Given the description of an element on the screen output the (x, y) to click on. 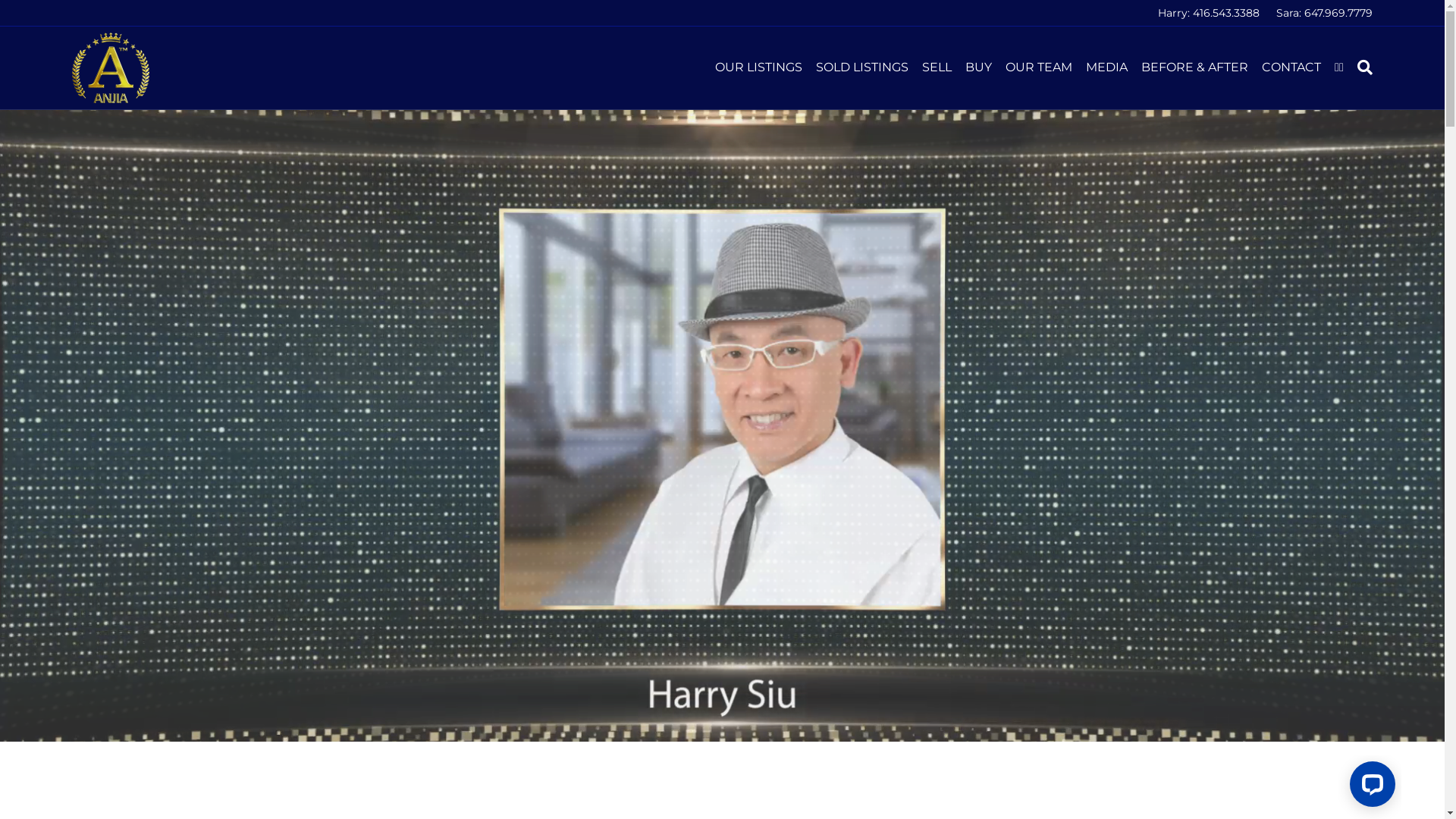
SELL Element type: text (936, 67)
OUR TEAM Element type: text (1038, 67)
VIEW FEATURED LISTINGS Element type: text (721, 483)
MEDIA Element type: text (1106, 67)
SOLD LISTINGS Element type: text (862, 67)
BEFORE & AFTER Element type: text (1194, 67)
CONTACT Element type: text (1291, 67)
BUY Element type: text (978, 67)
OUR LISTINGS Element type: text (758, 67)
